Given the description of an element on the screen output the (x, y) to click on. 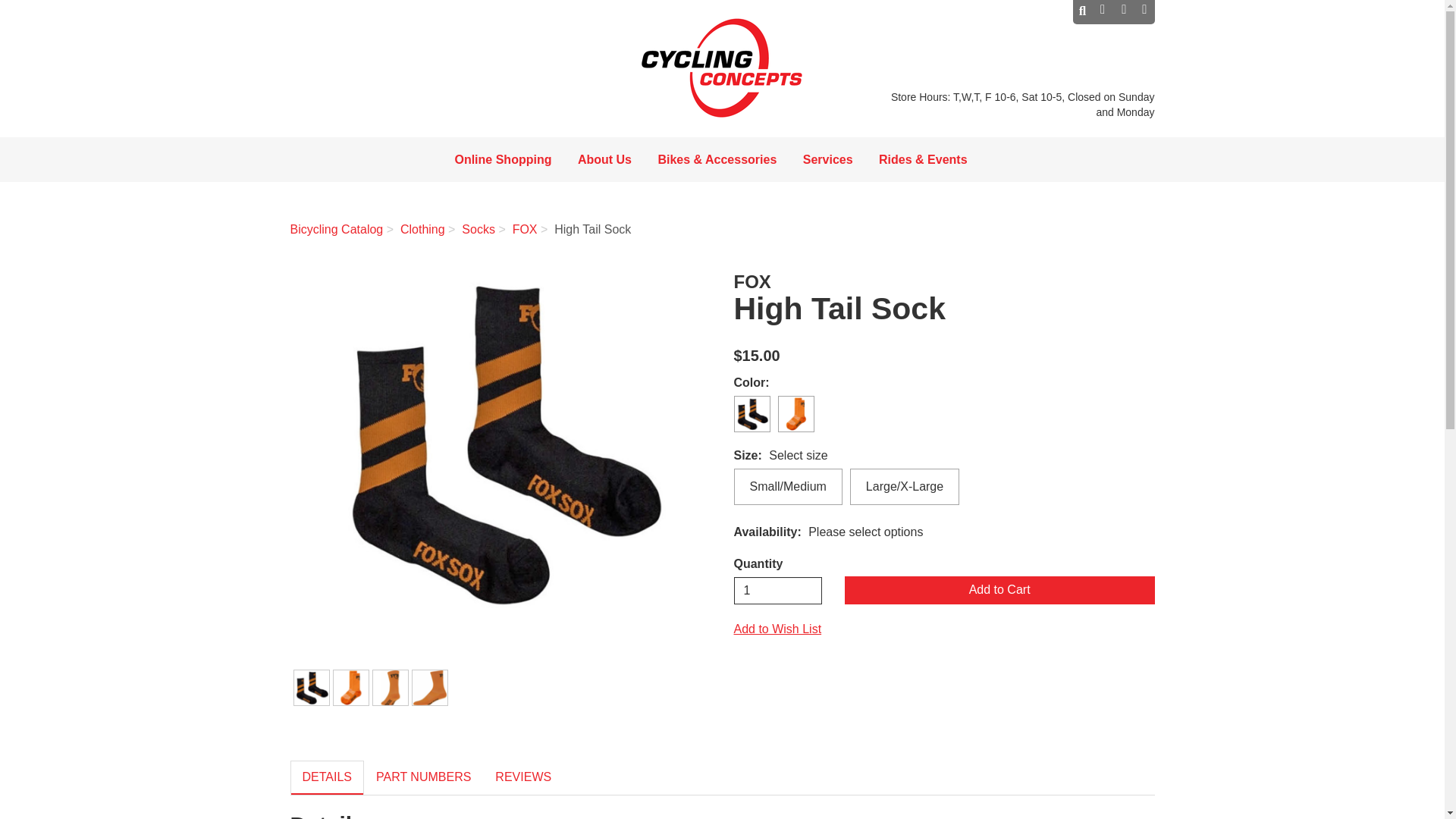
Color: Orange (350, 687)
Online Shopping (502, 163)
FOX High Tail Sock (500, 442)
1 (777, 590)
Cycling Concepts Home Page (722, 68)
Color: Black (311, 687)
